Given the description of an element on the screen output the (x, y) to click on. 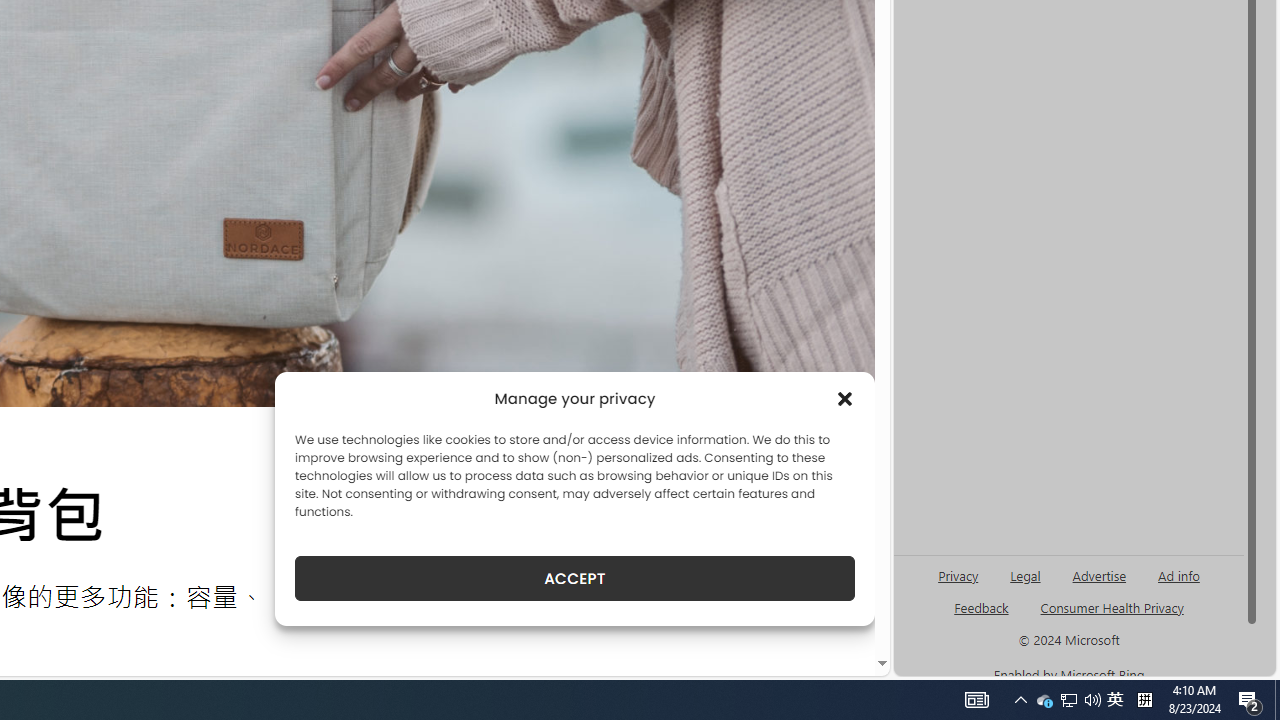
Class: cmplz-close (844, 398)
AutomationID: genId96 (981, 615)
AutomationID: sb_feedback (980, 607)
ACCEPT (574, 578)
